Given the description of an element on the screen output the (x, y) to click on. 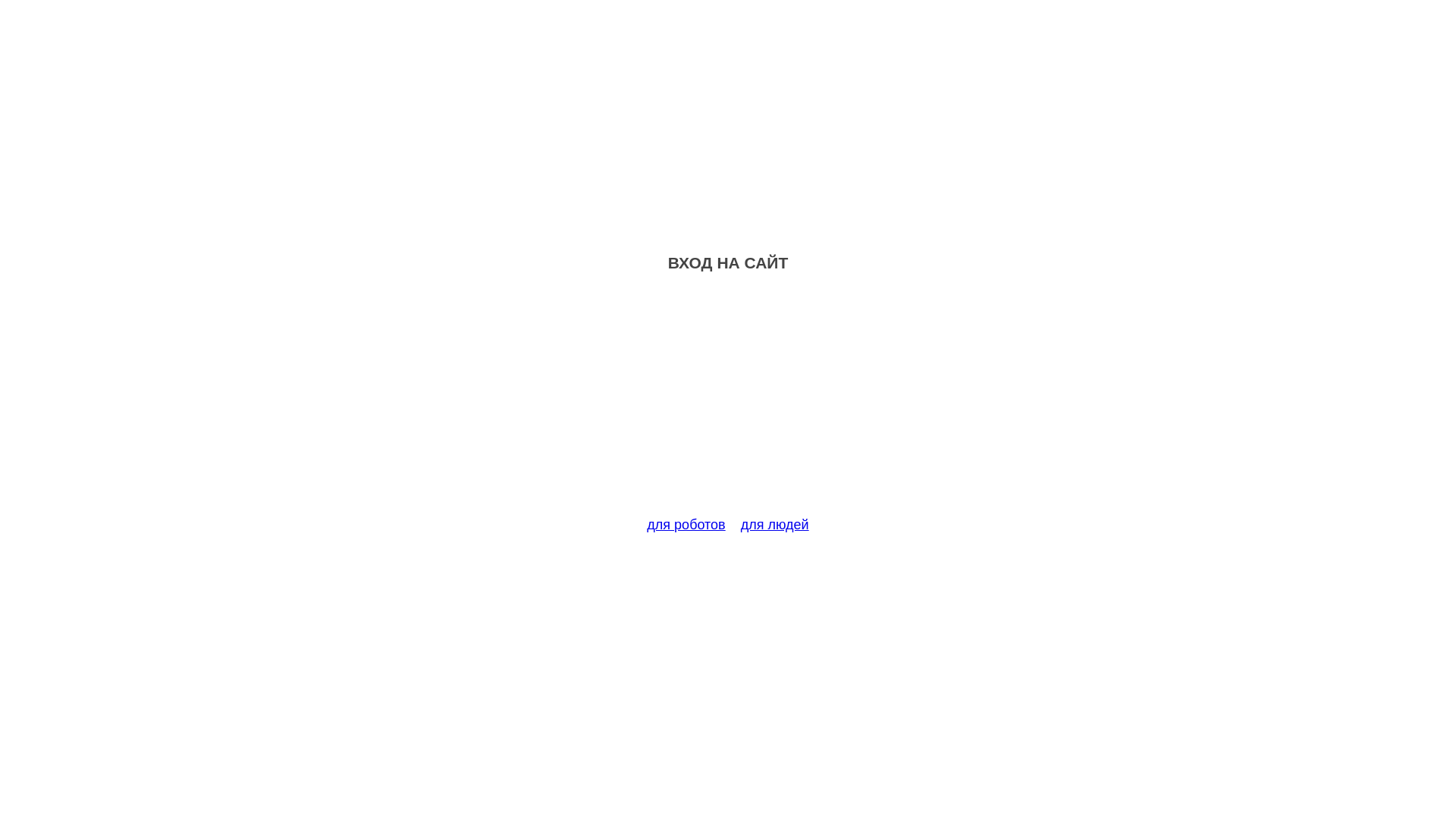
Advertisement Element type: hover (727, 403)
